Given the description of an element on the screen output the (x, y) to click on. 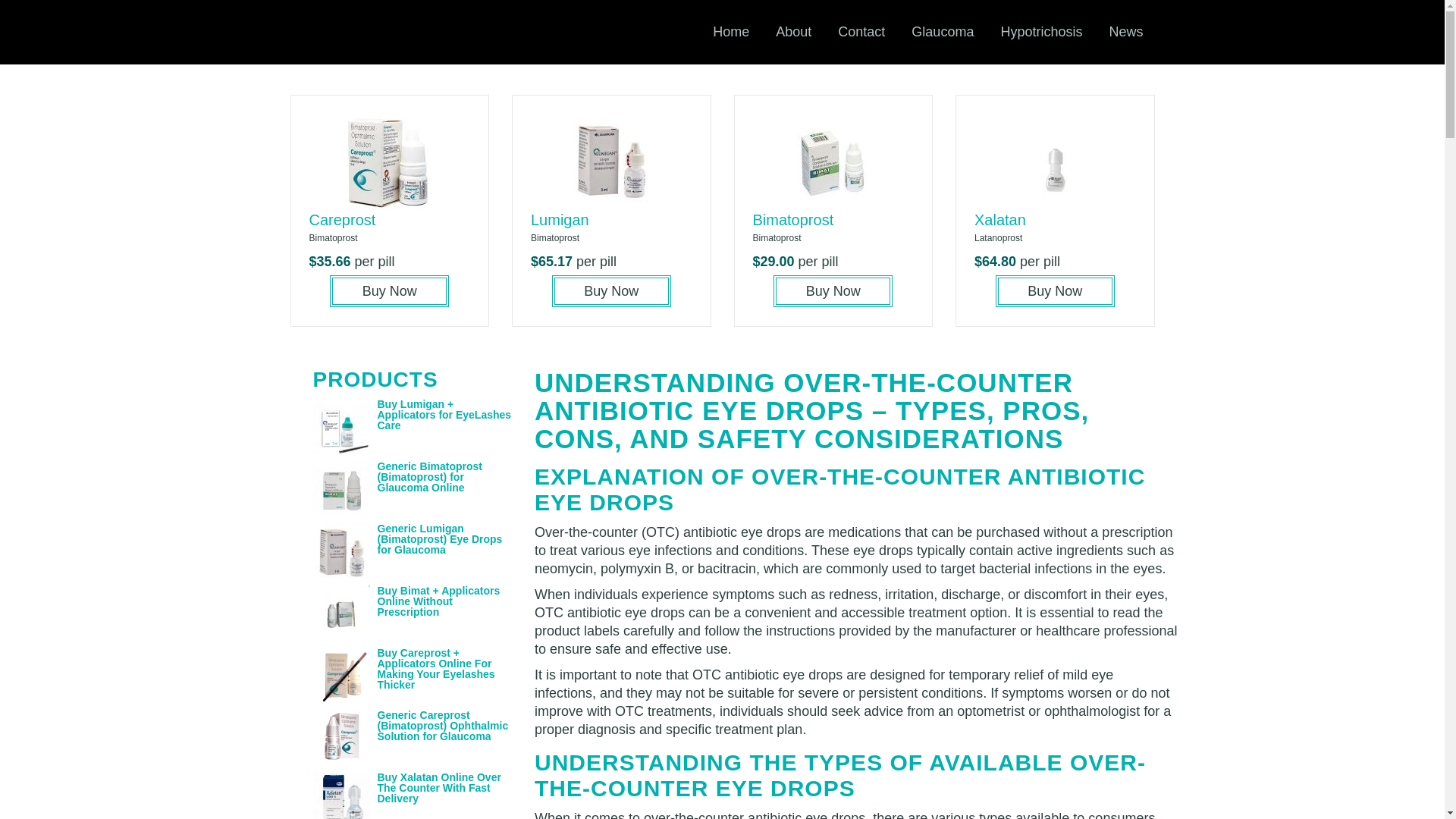
Lumigan (560, 219)
Bimatoprost (792, 219)
Contact (861, 32)
Buy Now (1055, 290)
Buy Now (389, 290)
About (793, 32)
Buy Xalatan Online Over The Counter With Fast Delivery (438, 787)
Buy Now (611, 290)
Glaucoma (942, 32)
Xalatan (1000, 219)
Buy Xalatan Online Over The Counter With Fast Delivery (438, 787)
Careprost (341, 219)
Home (730, 32)
Hypotrichosis (1040, 32)
News (1125, 32)
